Given the description of an element on the screen output the (x, y) to click on. 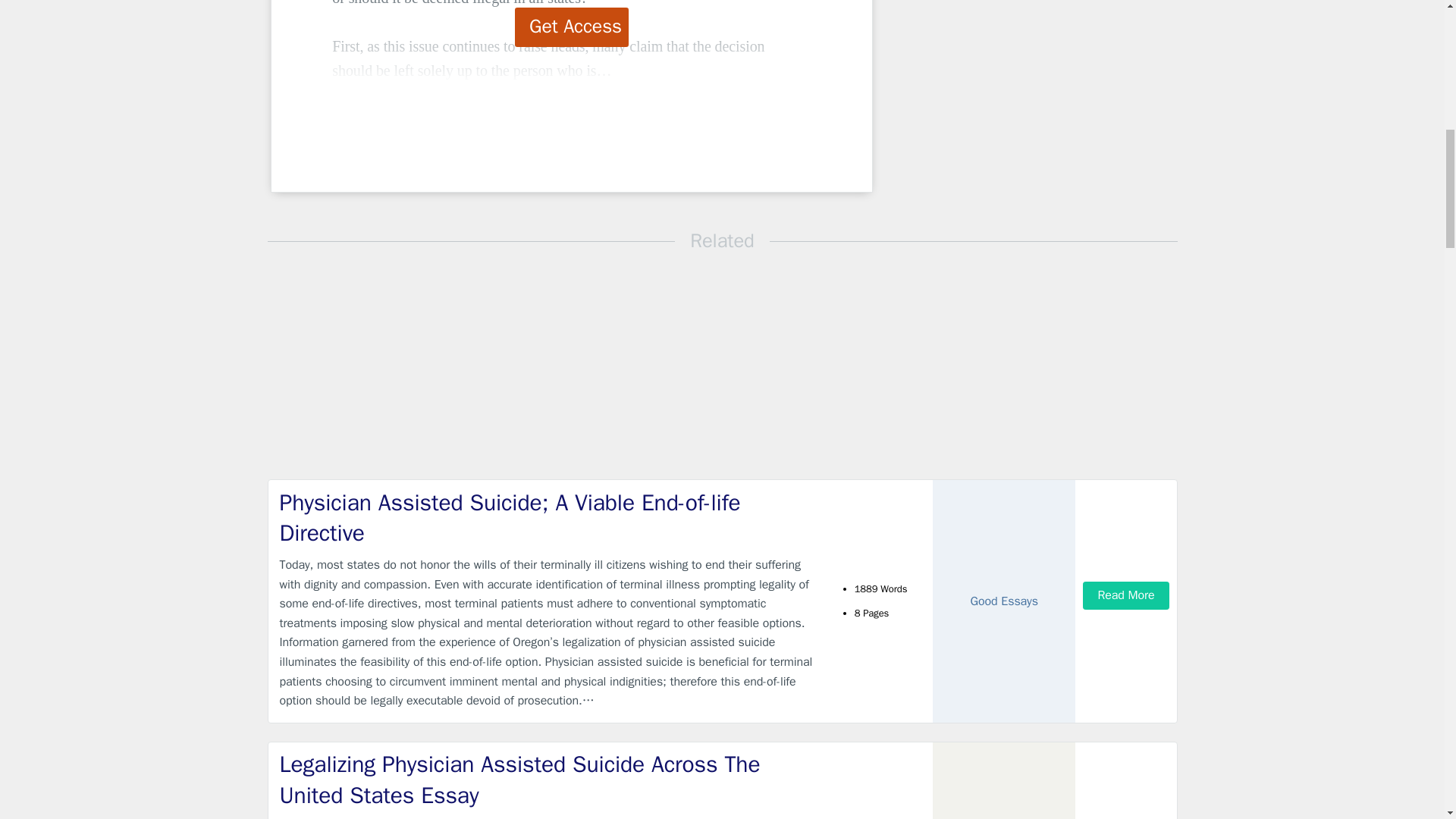
Physician Assisted Suicide; A Viable End-of-life Directive (548, 517)
Read More (1126, 595)
Get Access (571, 26)
